Given the description of an element on the screen output the (x, y) to click on. 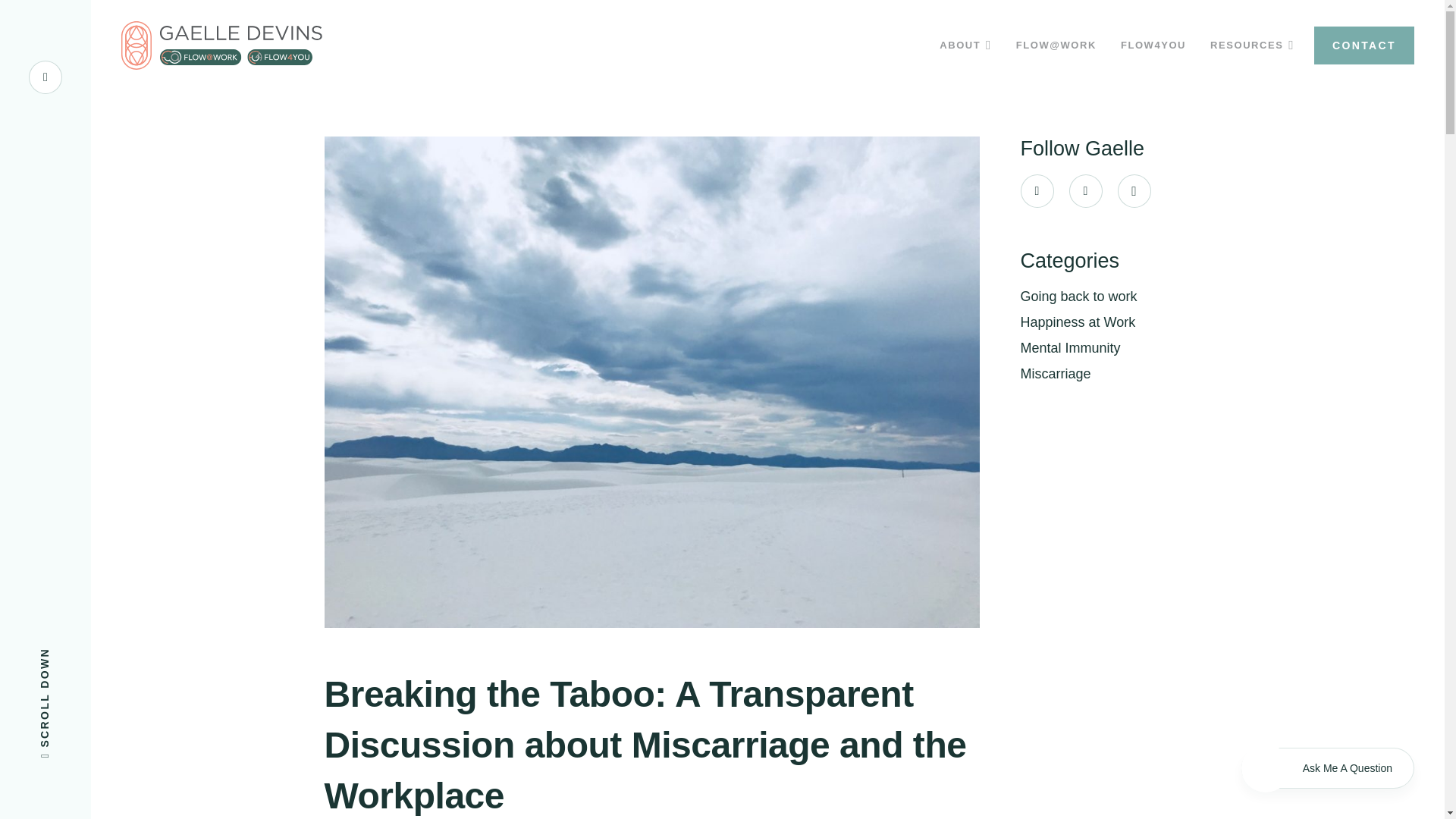
Going back to work (1078, 296)
RESOURCES (1252, 45)
FLOW4YOU (1153, 45)
SCROLL DOWN (94, 654)
LinkedIn (1085, 191)
Instagram (1134, 191)
Miscarriage (1055, 373)
Mental Immunity (1070, 347)
Facebook (1037, 191)
Happiness at Work (1077, 322)
CONTACT (1363, 45)
Ask Me A Question (1327, 767)
